Given the description of an element on the screen output the (x, y) to click on. 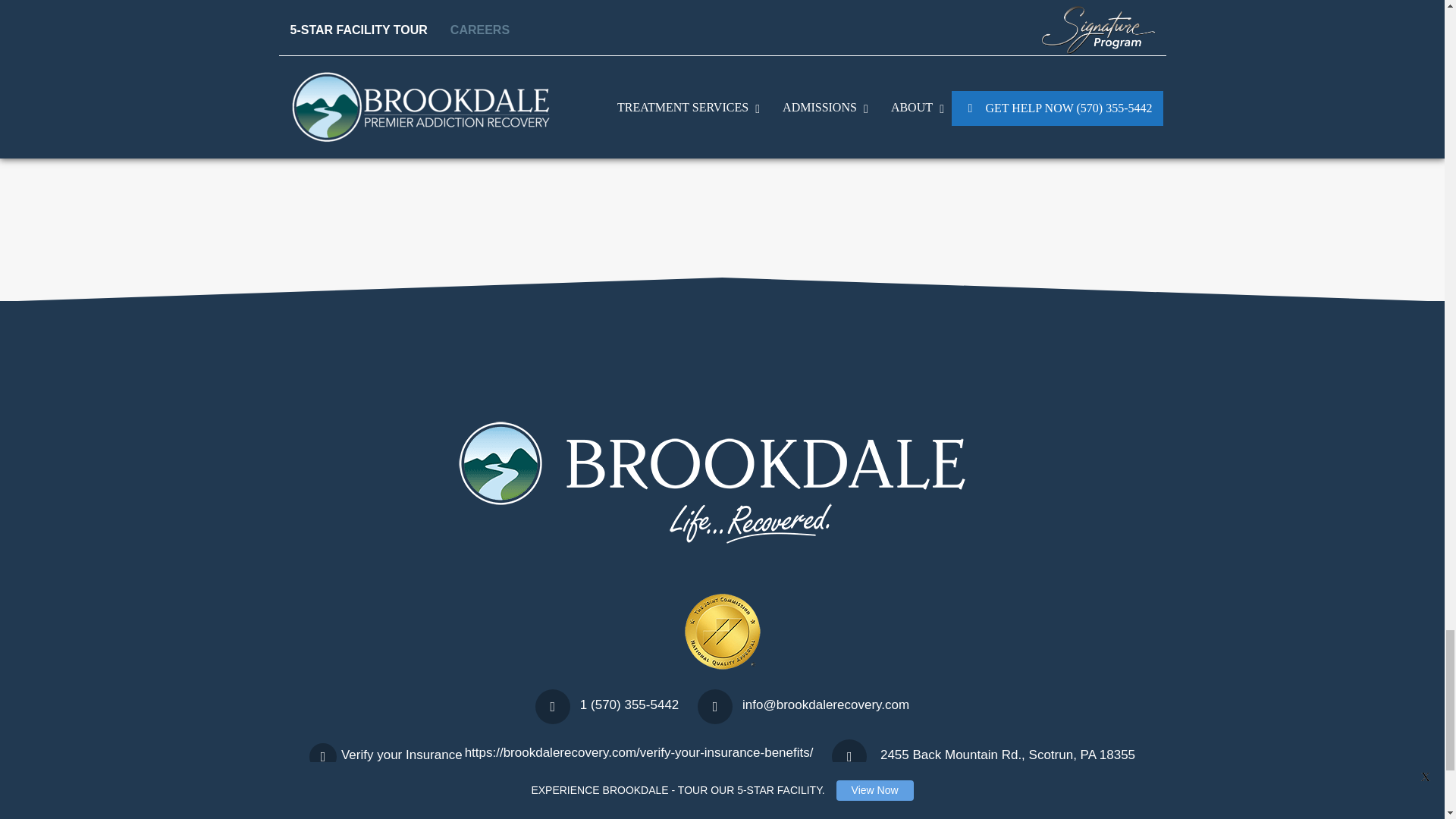
YouTube (745, 807)
Facebook (652, 807)
Instagram (699, 807)
LinkedIn (791, 807)
